Given the description of an element on the screen output the (x, y) to click on. 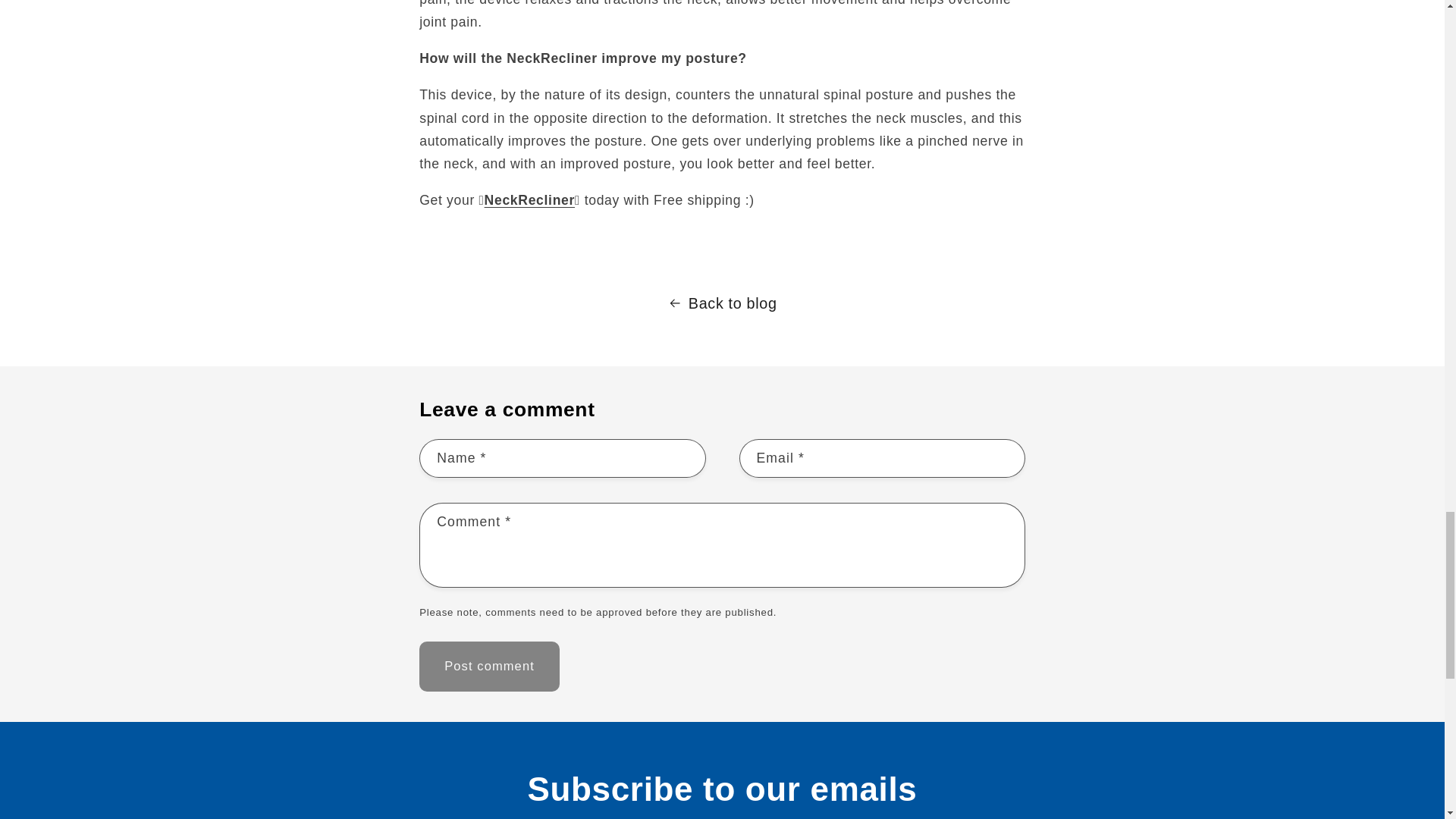
Post comment (489, 666)
NeckRecliner (529, 200)
Post comment (489, 666)
